Given the description of an element on the screen output the (x, y) to click on. 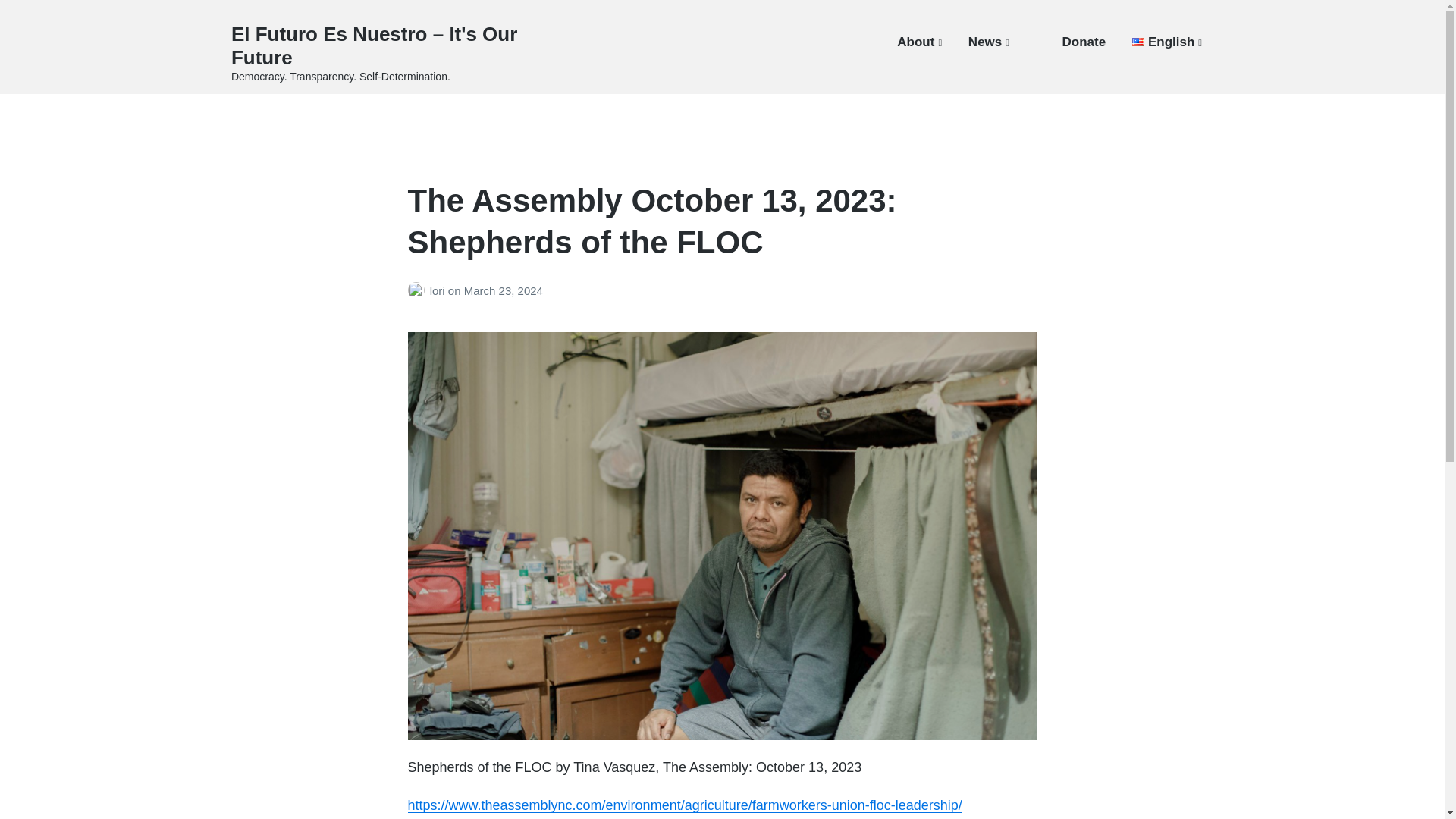
English (1167, 42)
Donate (1083, 42)
lori (438, 290)
Posts by lori (418, 290)
News (988, 42)
About (919, 42)
